Given the description of an element on the screen output the (x, y) to click on. 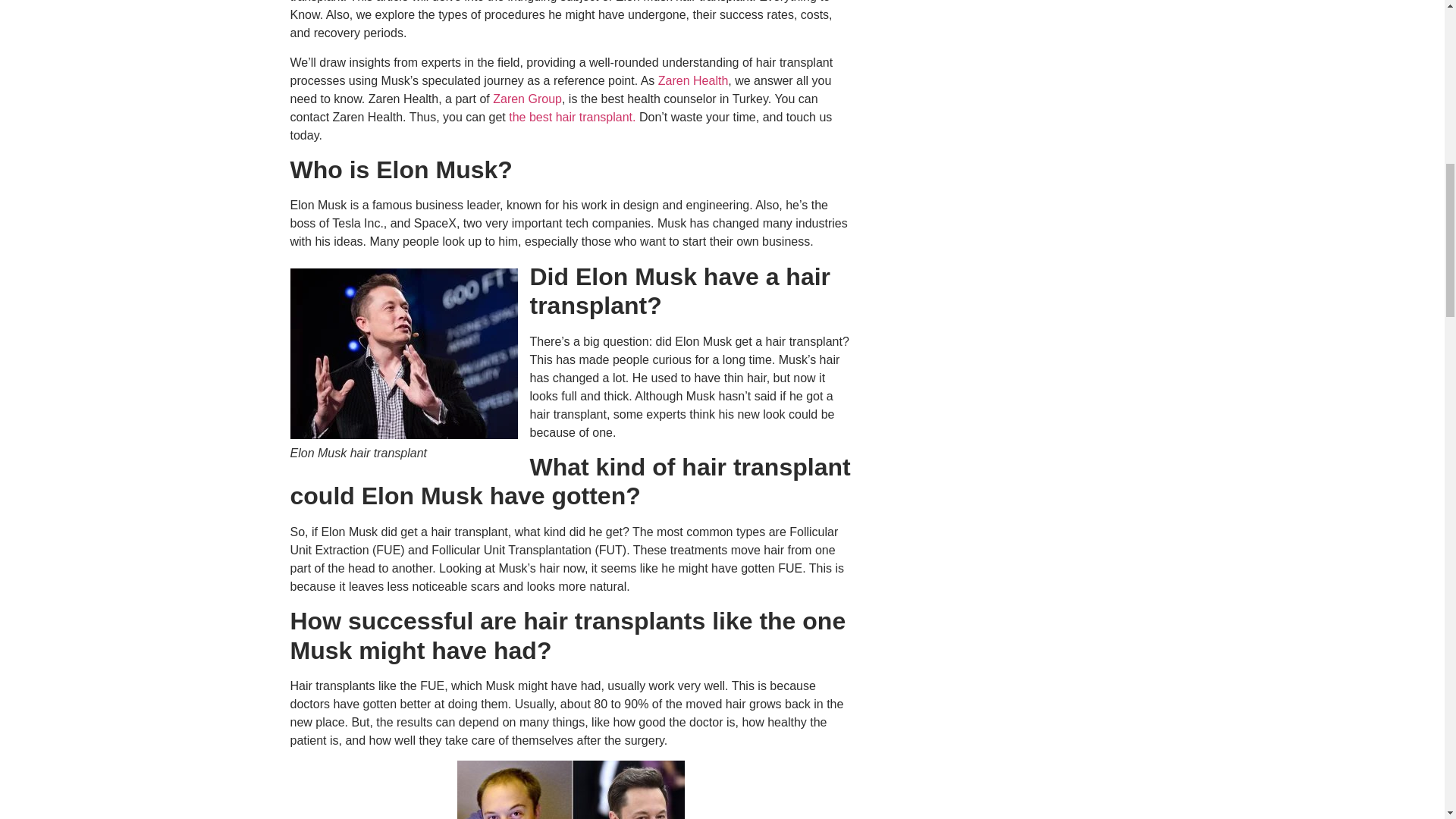
Zaren Group (527, 98)
the best hair transplant. (571, 116)
Zaren Health (690, 80)
